Given the description of an element on the screen output the (x, y) to click on. 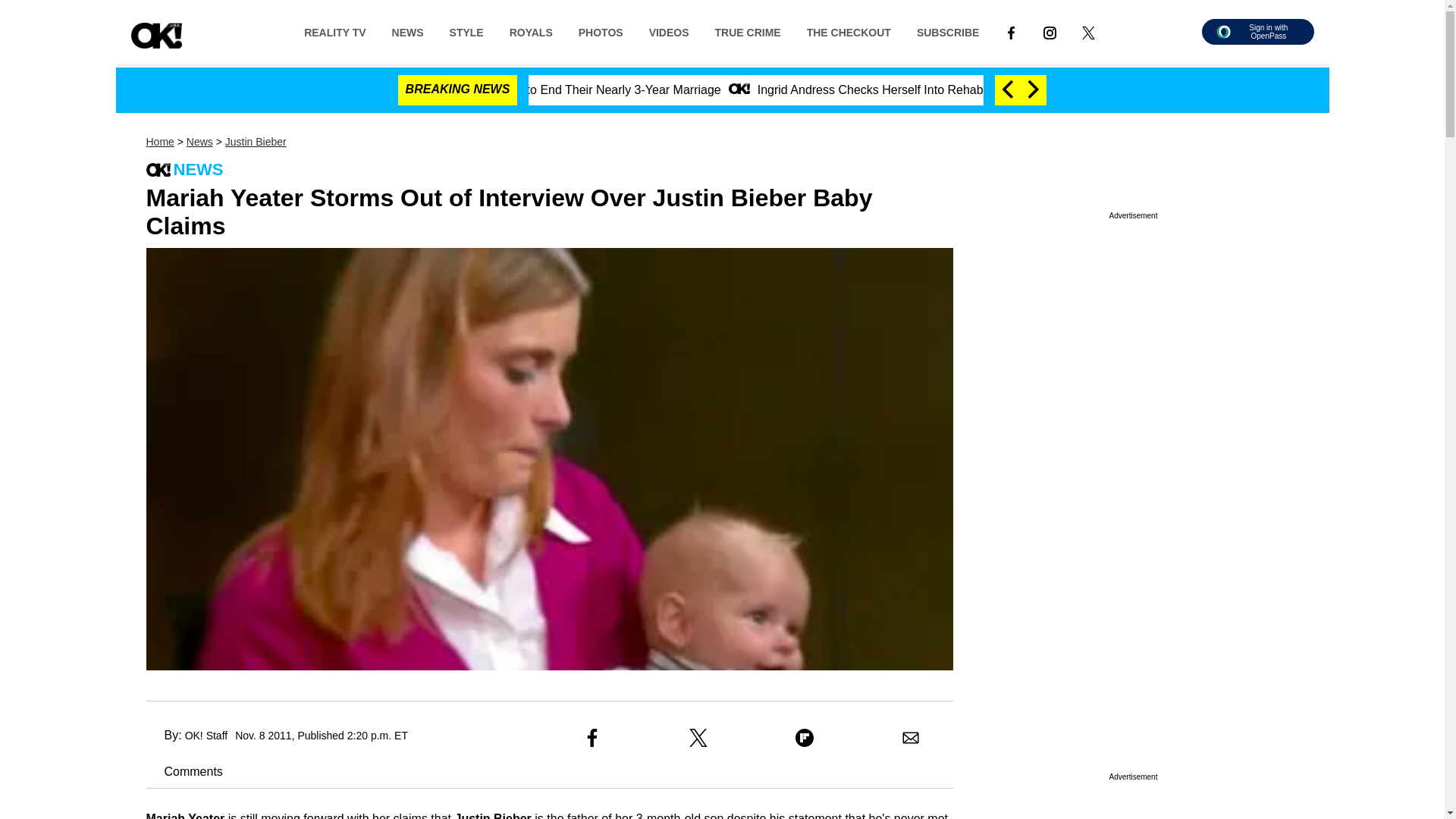
ROYALS (531, 31)
Home (159, 141)
Justin Bieber (255, 141)
THE CHECKOUT (848, 31)
LINK TO X (1088, 31)
Sign in with OpenPass (1257, 31)
STYLE (466, 31)
Share to Facebook (590, 737)
Comments (183, 771)
LINK TO FACEBOOK (1010, 31)
NEWS (407, 31)
PHOTOS (601, 31)
Link to X (1088, 31)
Link to Instagram (1049, 31)
Link to Facebook (1010, 31)
